Given the description of an element on the screen output the (x, y) to click on. 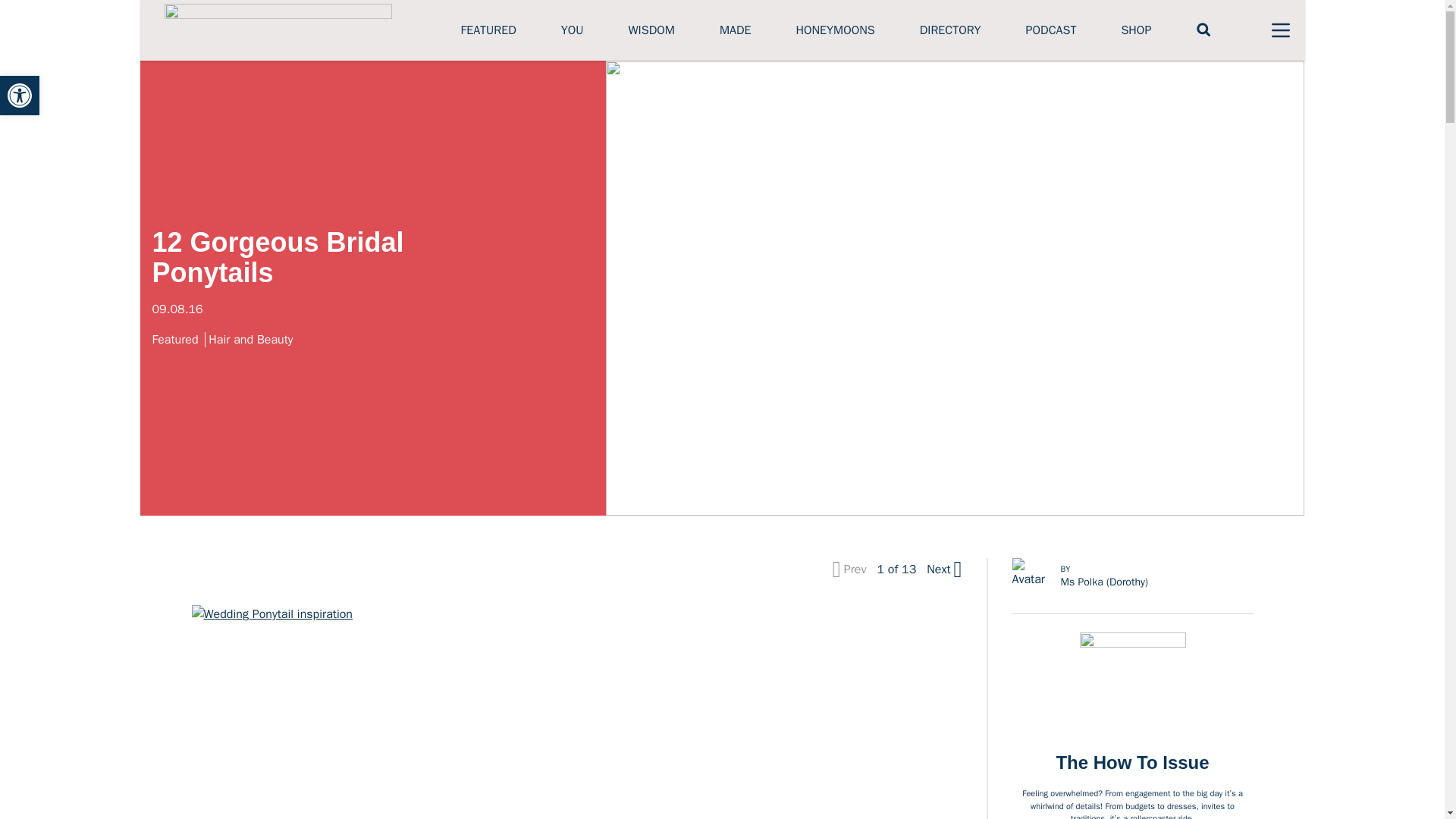
DIRECTORY (950, 29)
PODCAST (1051, 29)
Hair and Beauty (251, 339)
SHOP (1136, 29)
HONEYMOONS (834, 29)
Featured (178, 339)
WISDOM (650, 29)
FEATURED (488, 29)
Next (941, 568)
